Given the description of an element on the screen output the (x, y) to click on. 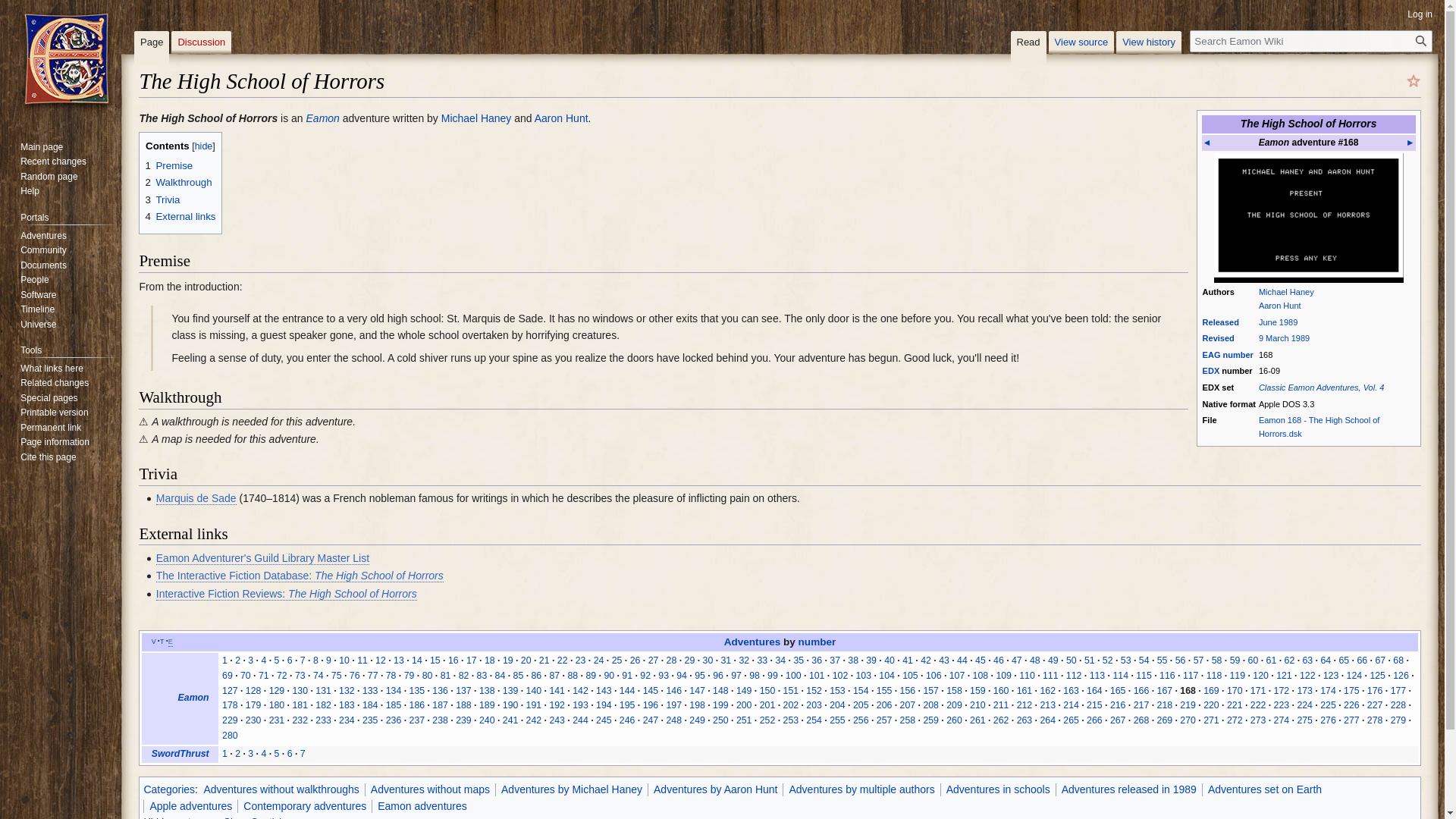
w:Marquis de Sade (195, 498)
Revised (1218, 338)
Eamon (322, 118)
Eamon Adventurer's Guild (1211, 354)
4 External links (179, 215)
number (1238, 354)
EDX (1211, 370)
Search (1420, 41)
1 Premise (168, 165)
Michael Haney (476, 118)
Eamon (193, 697)
June 1989 (1278, 321)
Aaron Hunt (1280, 305)
Search (1420, 41)
2 Walkthrough (177, 182)
